Given the description of an element on the screen output the (x, y) to click on. 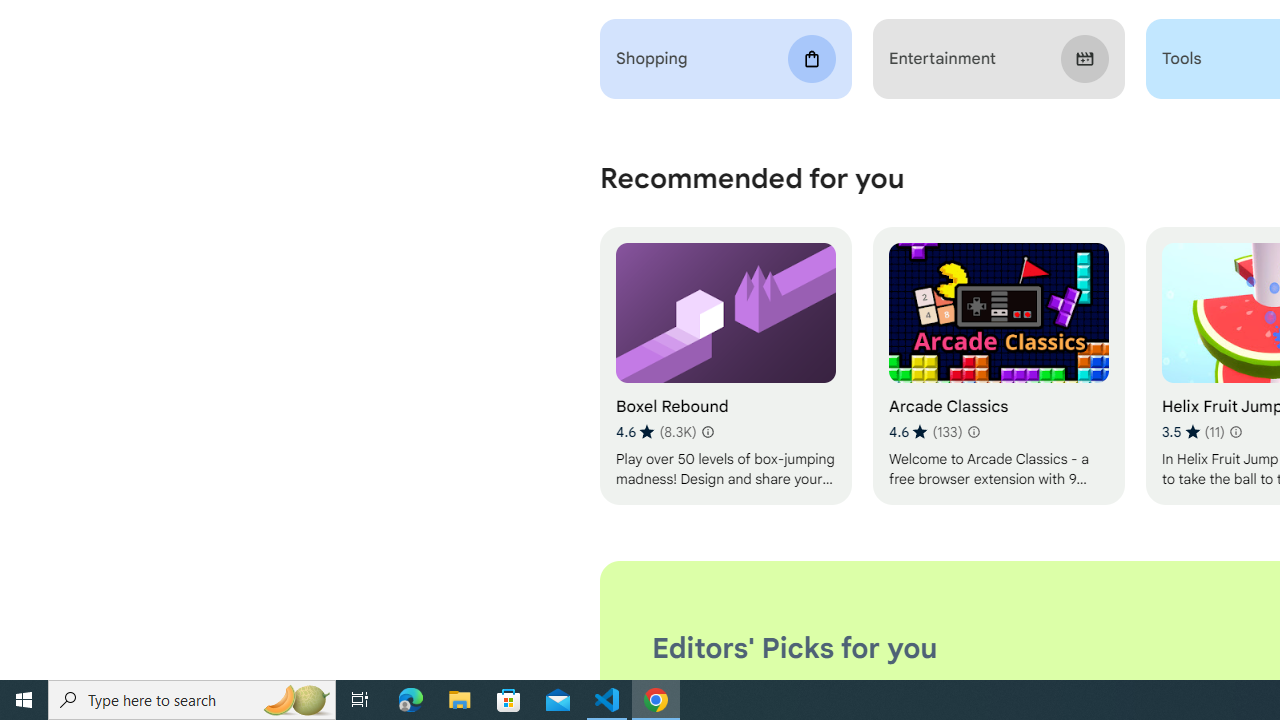
Entertainment (998, 59)
Learn more about results and reviews "Boxel Rebound" (707, 431)
Boxel Rebound (725, 366)
Average rating 4.6 out of 5 stars. 8.3K ratings. (655, 431)
Average rating 3.5 out of 5 stars. 11 ratings. (1192, 431)
Arcade Classics (998, 366)
Shopping (725, 59)
Average rating 4.6 out of 5 stars. 133 ratings. (925, 431)
Learn more about results and reviews "Arcade Classics" (972, 431)
